Given the description of an element on the screen output the (x, y) to click on. 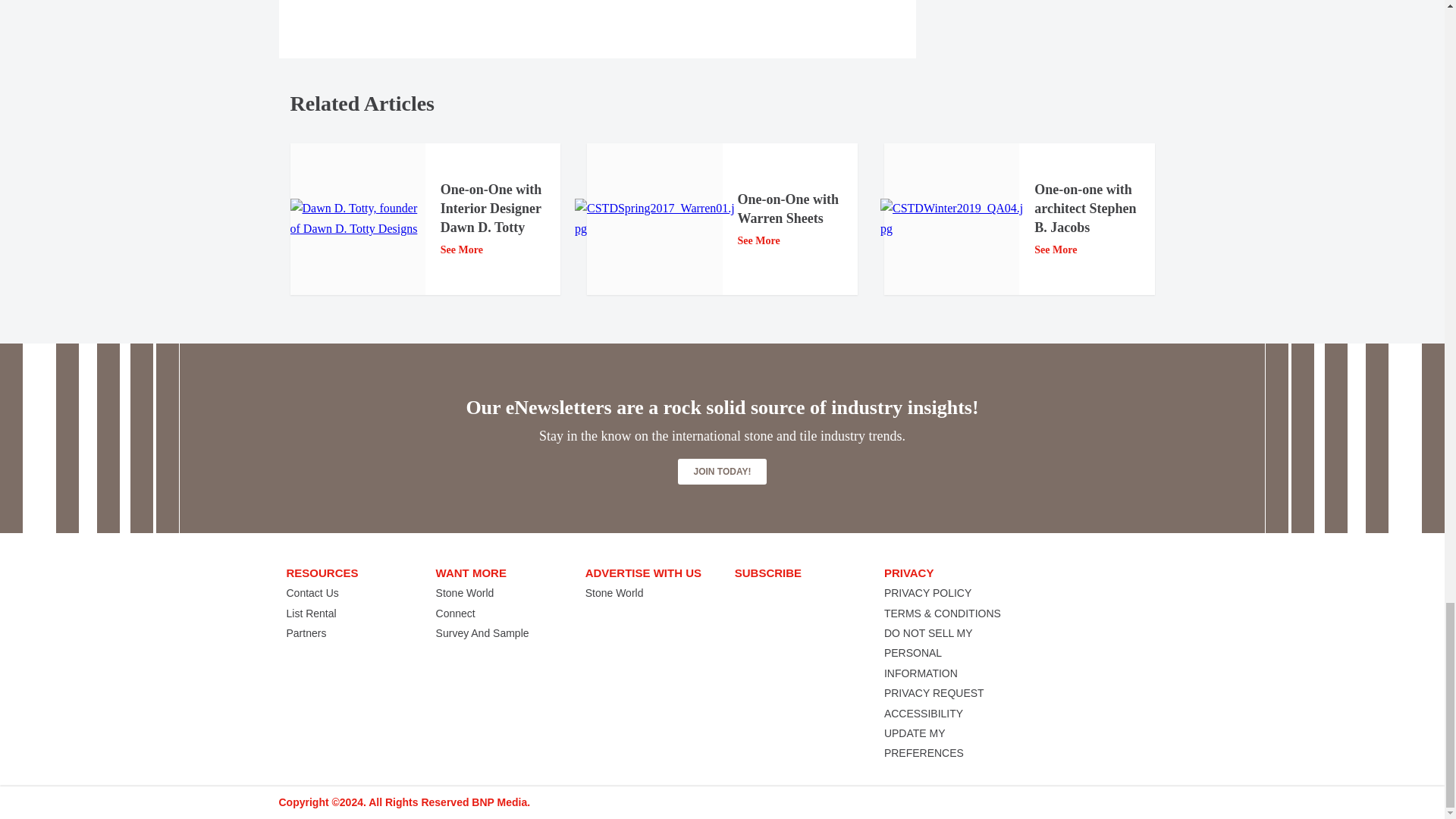
Dawn D. Totty, founder of Dawn D. Totty Designs (357, 219)
Interaction questions (1052, 27)
